Given the description of an element on the screen output the (x, y) to click on. 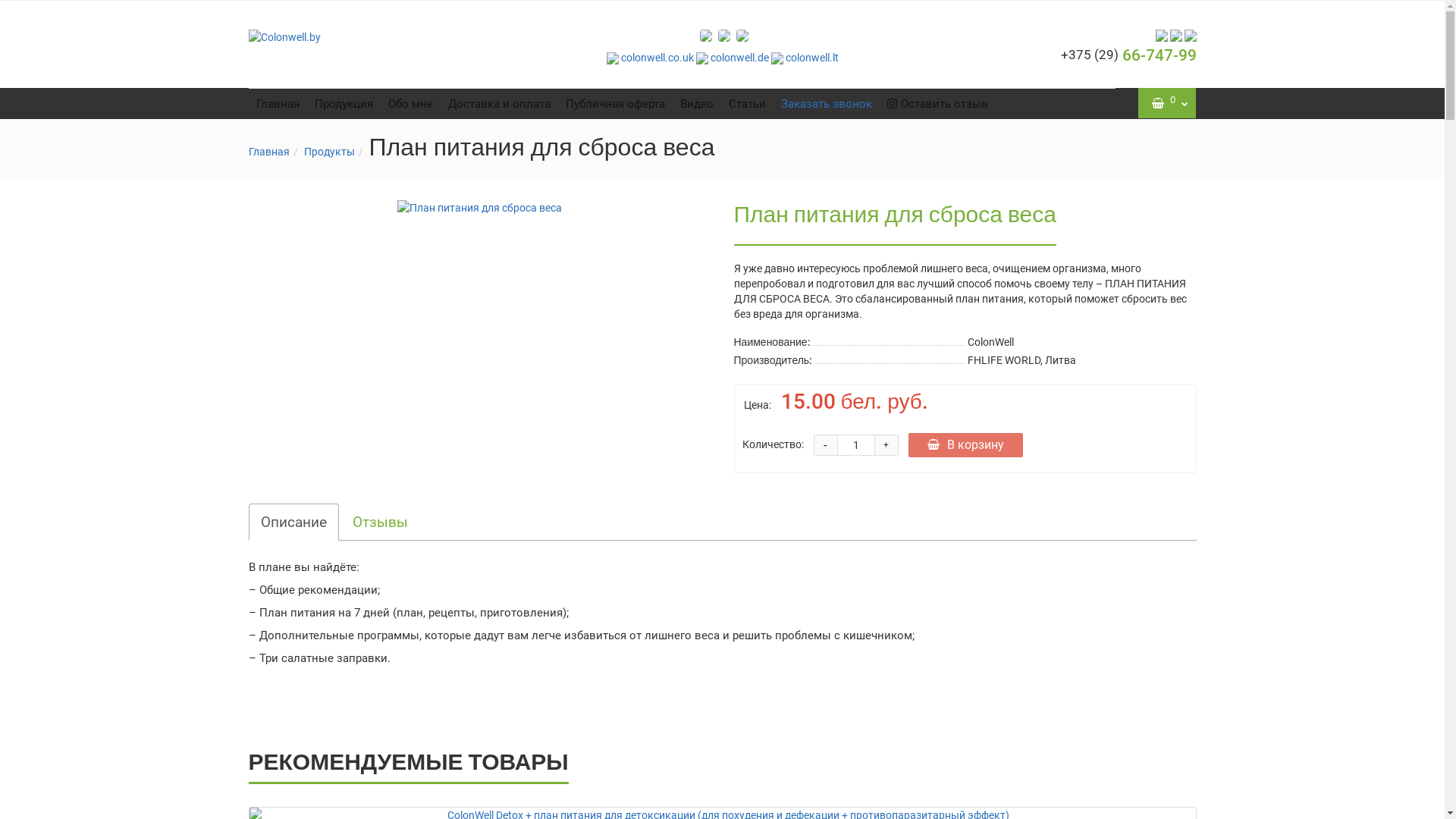
colonwell.de Element type: text (732, 57)
+375 (29) 66-747-99 Element type: text (1127, 55)
- Element type: text (825, 445)
+ Element type: text (886, 445)
0 Element type: text (1167, 102)
colonwell.co.uk Element type: text (649, 57)
Colonwell.by Element type: hover (358, 36)
colonwell.lt Element type: text (803, 57)
